Given the description of an element on the screen output the (x, y) to click on. 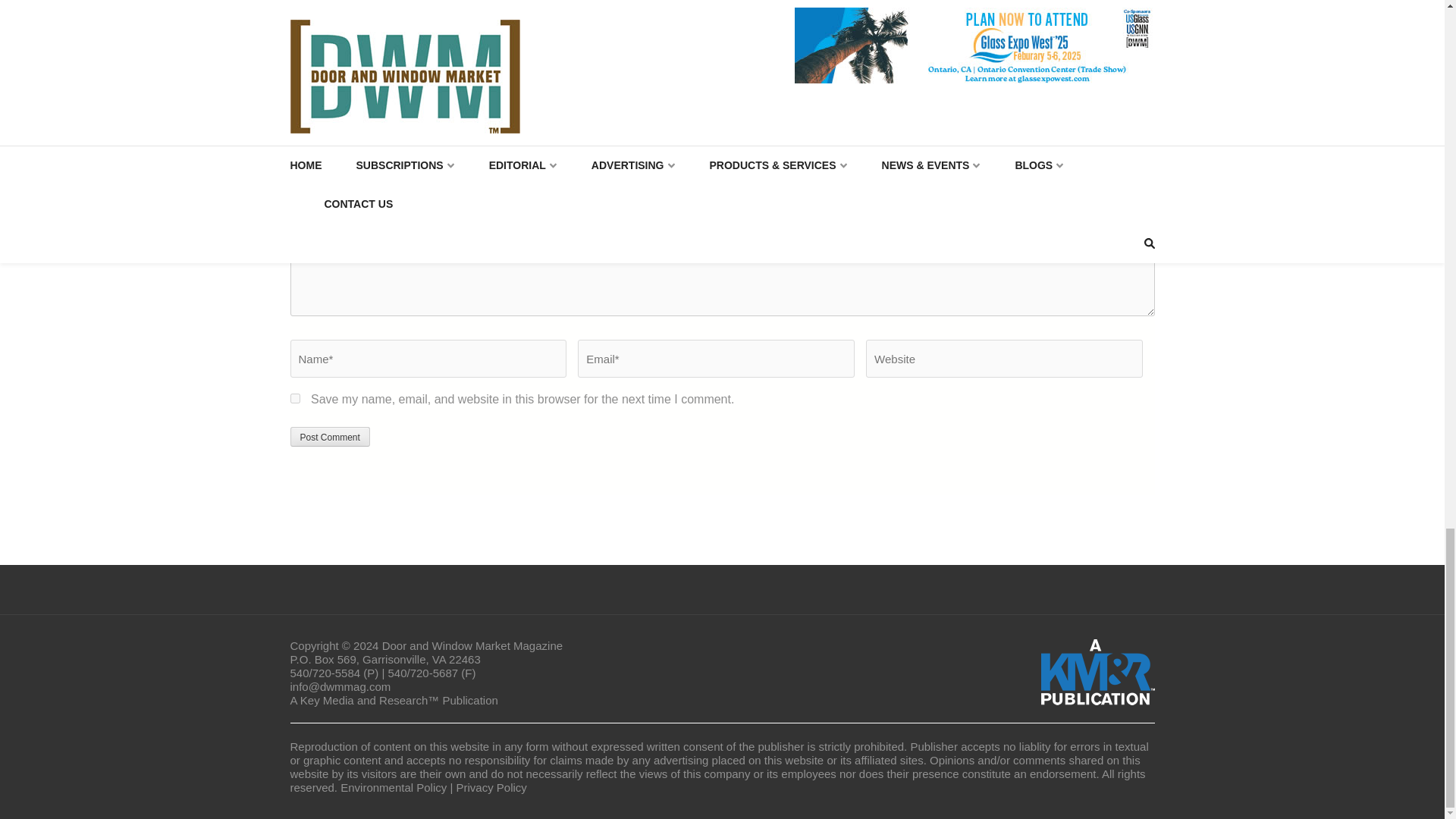
Post Comment (329, 436)
yes (294, 398)
